Given the description of an element on the screen output the (x, y) to click on. 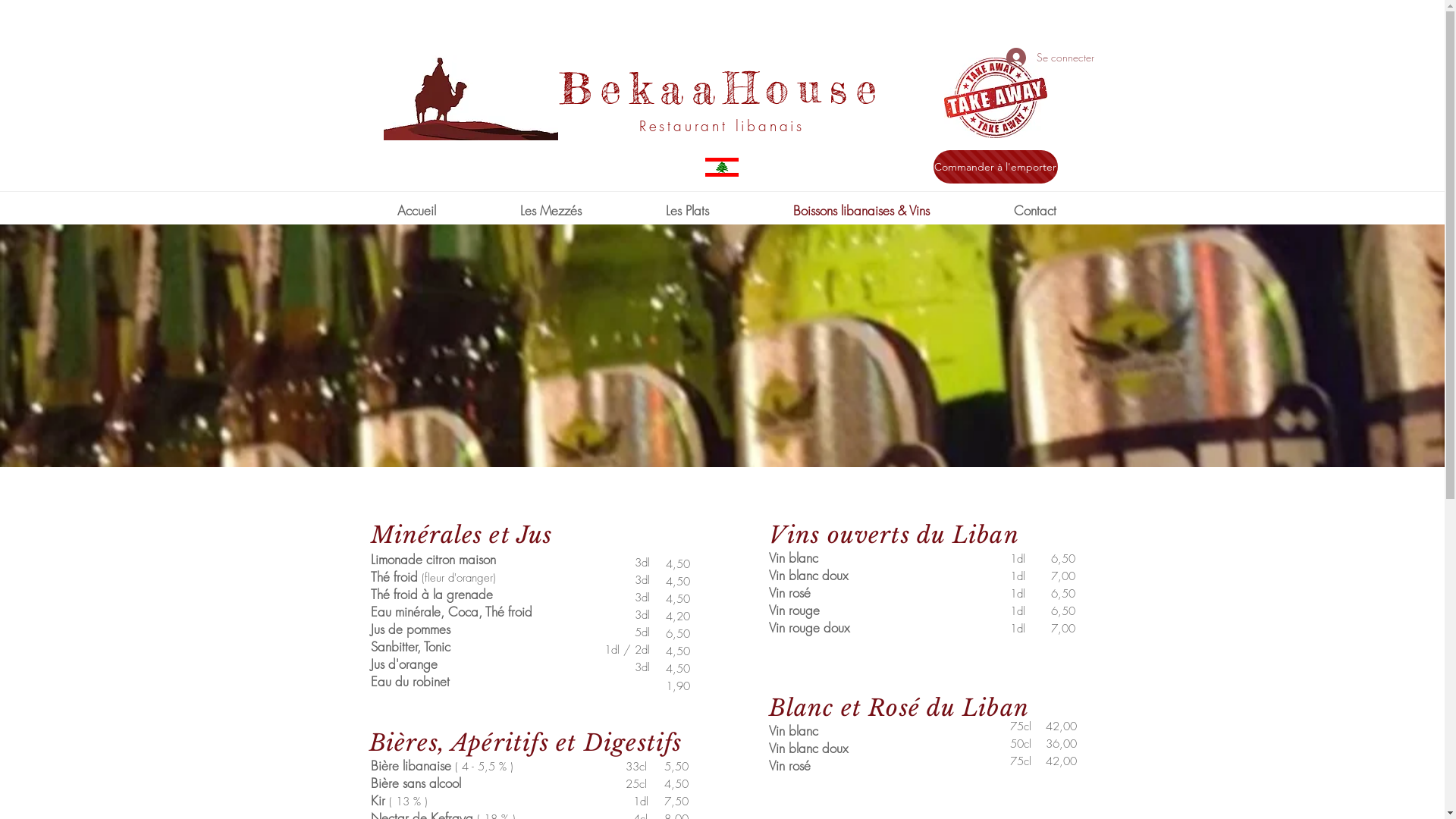
Boissons libanaises & Vins Element type: text (860, 210)
Se connecter Element type: text (1039, 57)
BekaaHouse Element type: text (721, 87)
Accueil Element type: text (415, 210)
Contact Element type: text (1035, 210)
Les Plats Element type: text (686, 210)
